Given the description of an element on the screen output the (x, y) to click on. 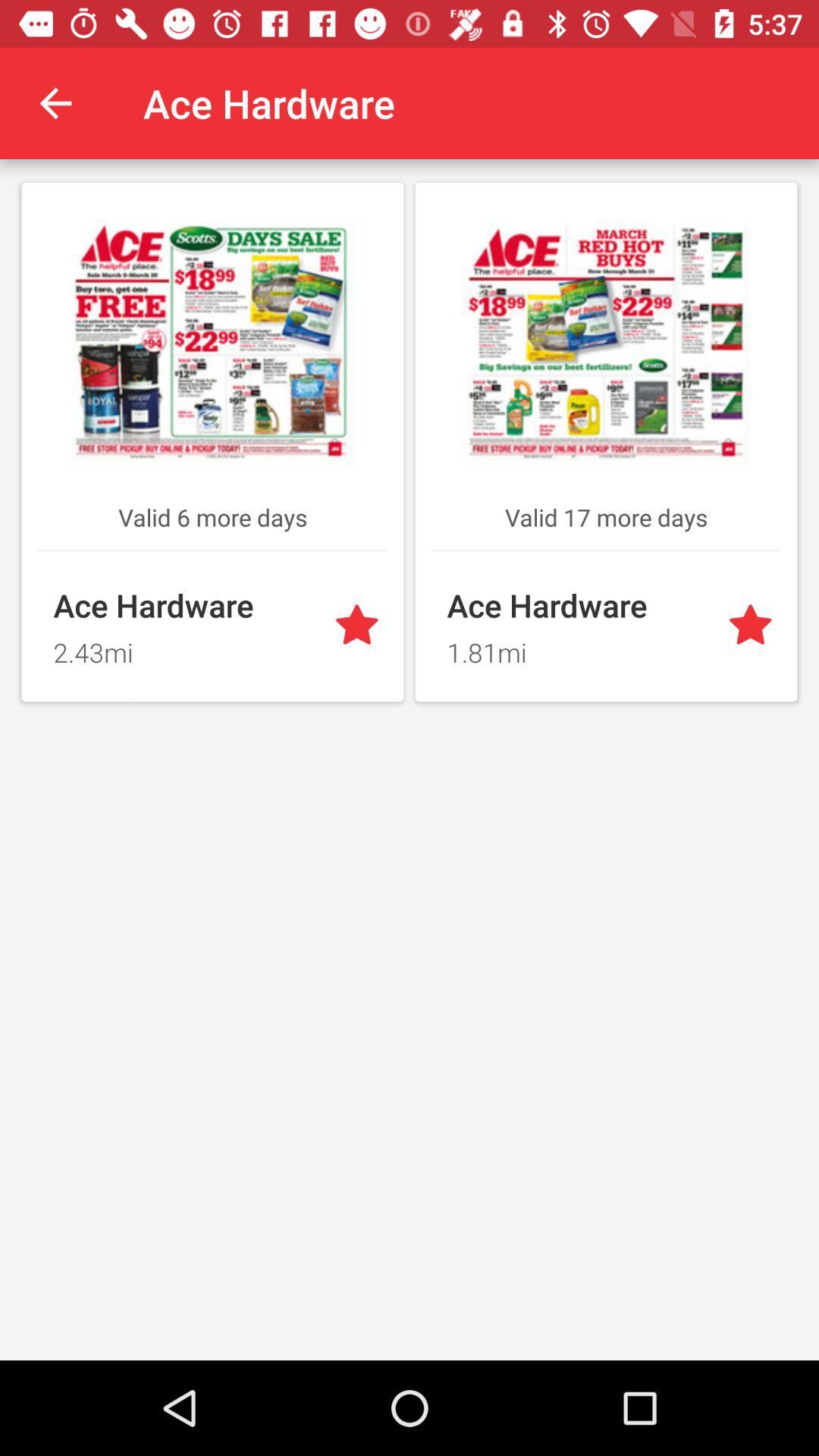
turn on the icon next to the ace hardware item (55, 103)
